Given the description of an element on the screen output the (x, y) to click on. 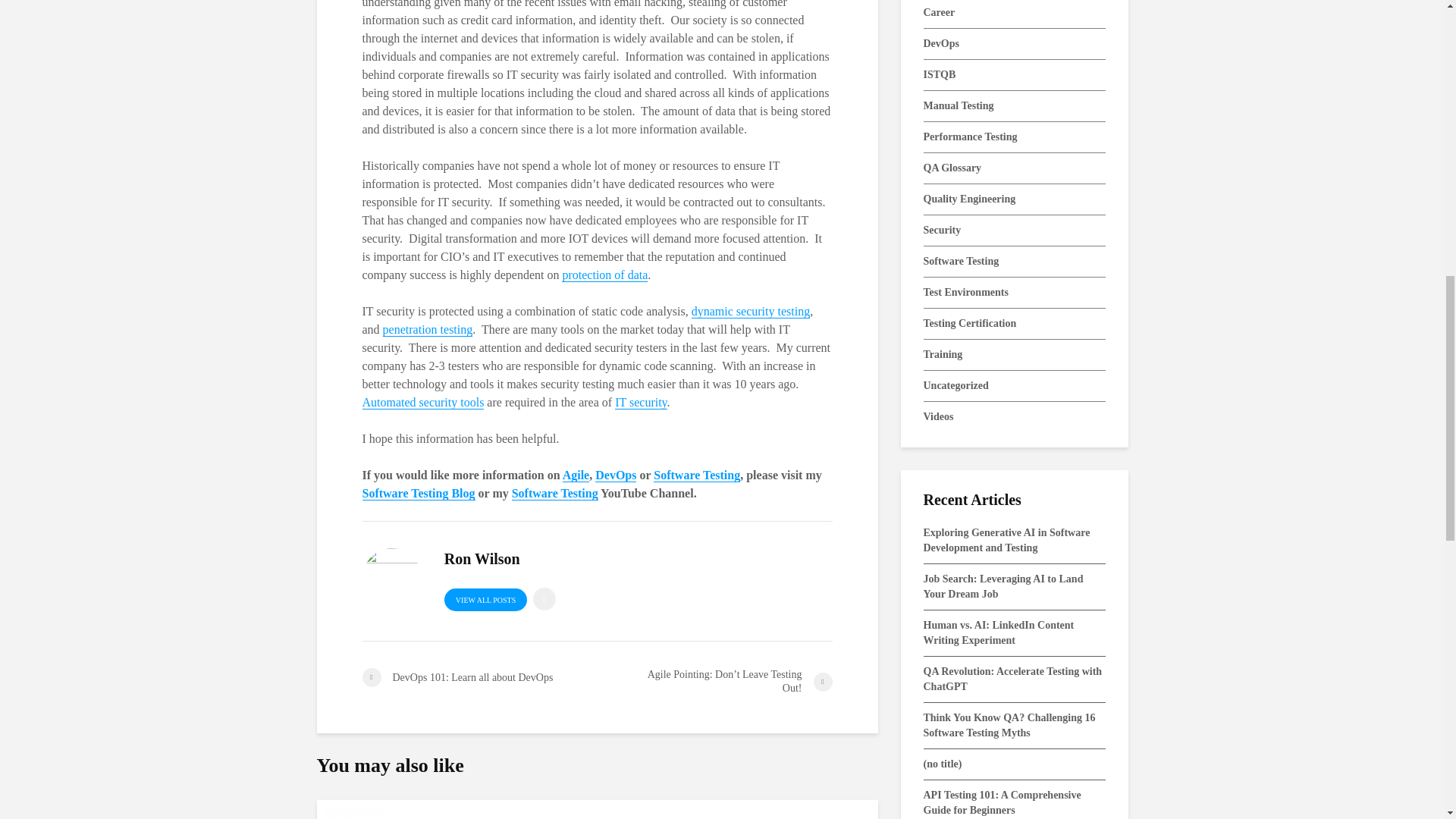
DevOps 101: Learn all about DevOps (479, 677)
Software Testing (555, 493)
protection of data (604, 274)
Software Testing Blog (419, 493)
Software Testing (696, 475)
dynamic security testing (750, 311)
DevOps (615, 475)
Agile (575, 475)
VIEW ALL POSTS (485, 599)
Automated security tools (582, 411)
IT security (640, 402)
penetration testing (427, 329)
